Given the description of an element on the screen output the (x, y) to click on. 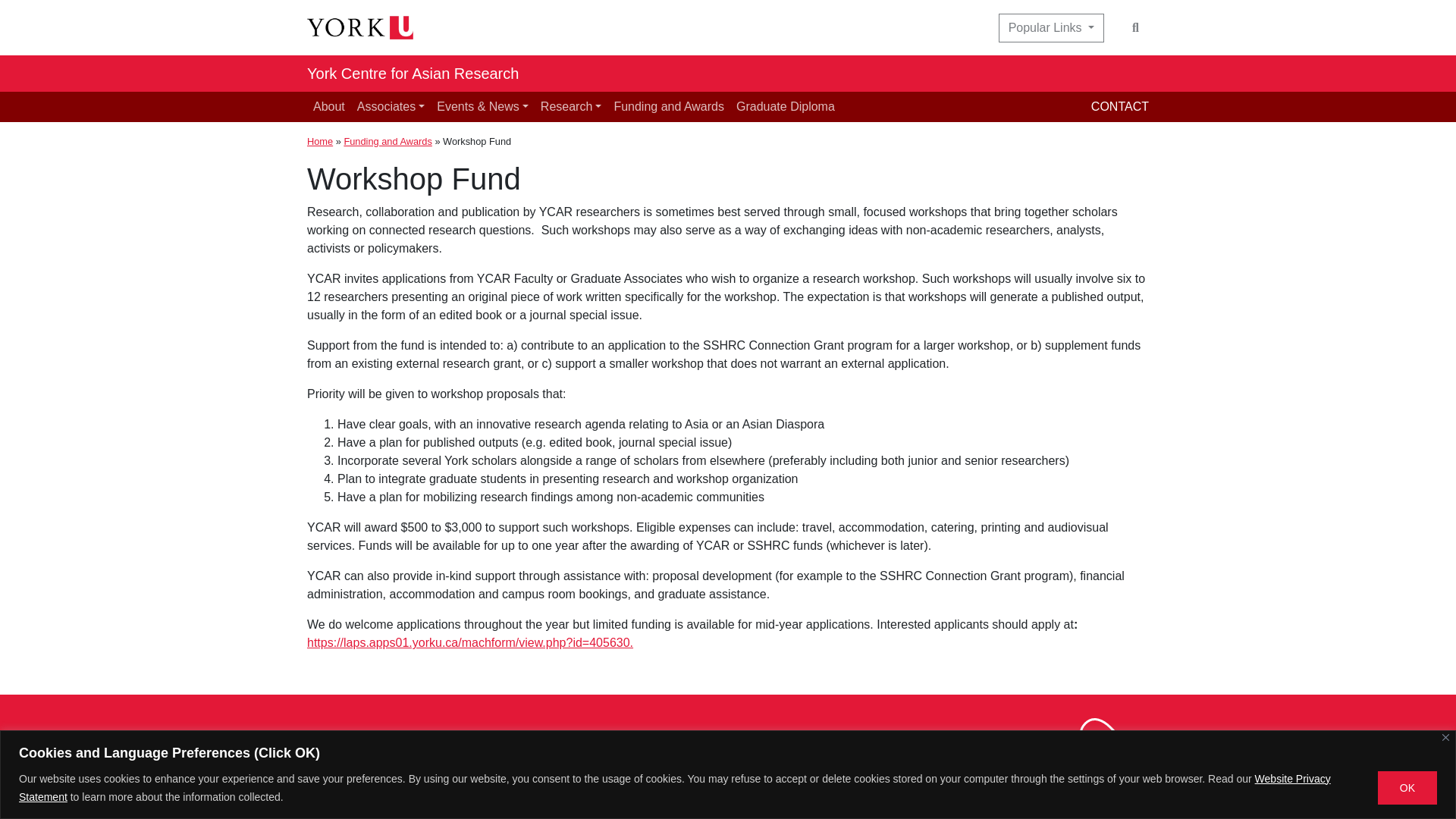
York Centre for Asian Research (412, 73)
Website Privacy Statement (674, 787)
Popular Links (1050, 27)
OK (1407, 786)
About (328, 106)
Associates (390, 106)
Search (1135, 27)
Research (571, 106)
